Given the description of an element on the screen output the (x, y) to click on. 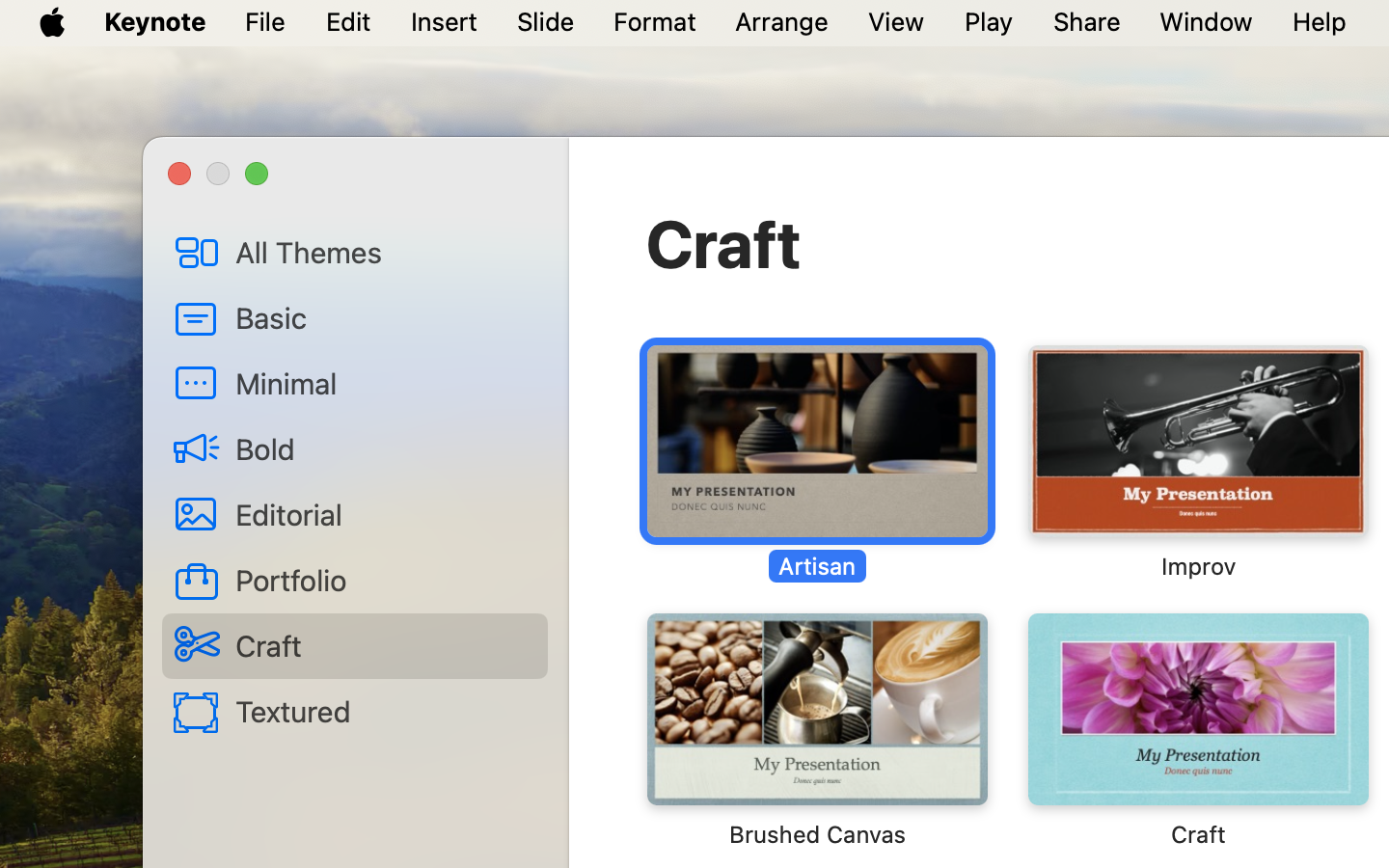
‎⁨Craft⁩ Element type: AXButton (1196, 731)
Craft Element type: AXStaticText (724, 242)
Editorial Element type: AXStaticText (383, 513)
Textured Element type: AXStaticText (383, 710)
‎⁨Artisan⁩ Element type: AXButton (816, 462)
